Given the description of an element on the screen output the (x, y) to click on. 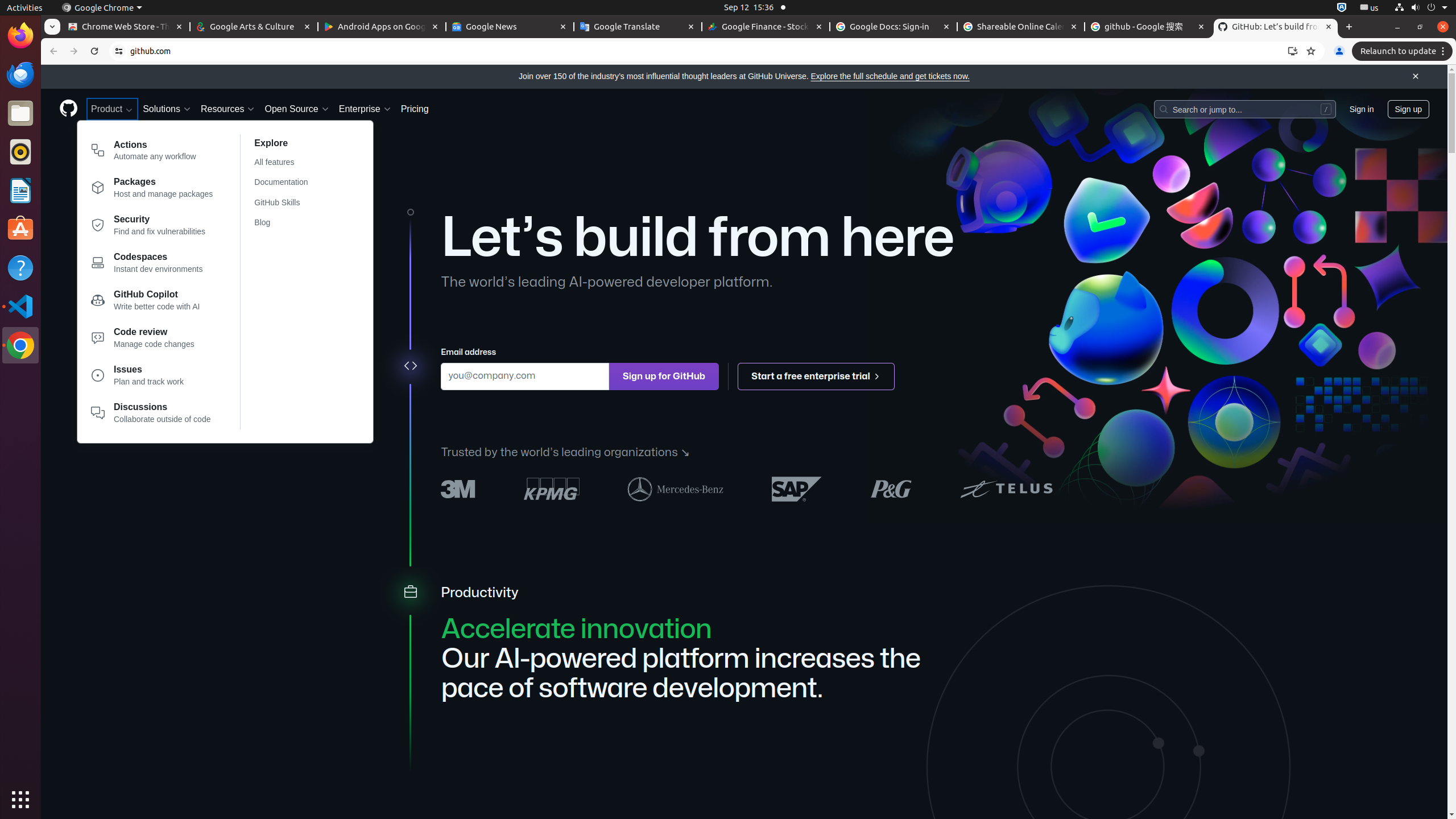
View site information Element type: push-button (118, 51)
Google Chrome Element type: menu (101, 7)
:1.21/StatusNotifierItem Element type: menu (1369, 7)
Codespaces Instant dev environments Element type: link (152, 265)
All features Element type: link (287, 161)
